Given the description of an element on the screen output the (x, y) to click on. 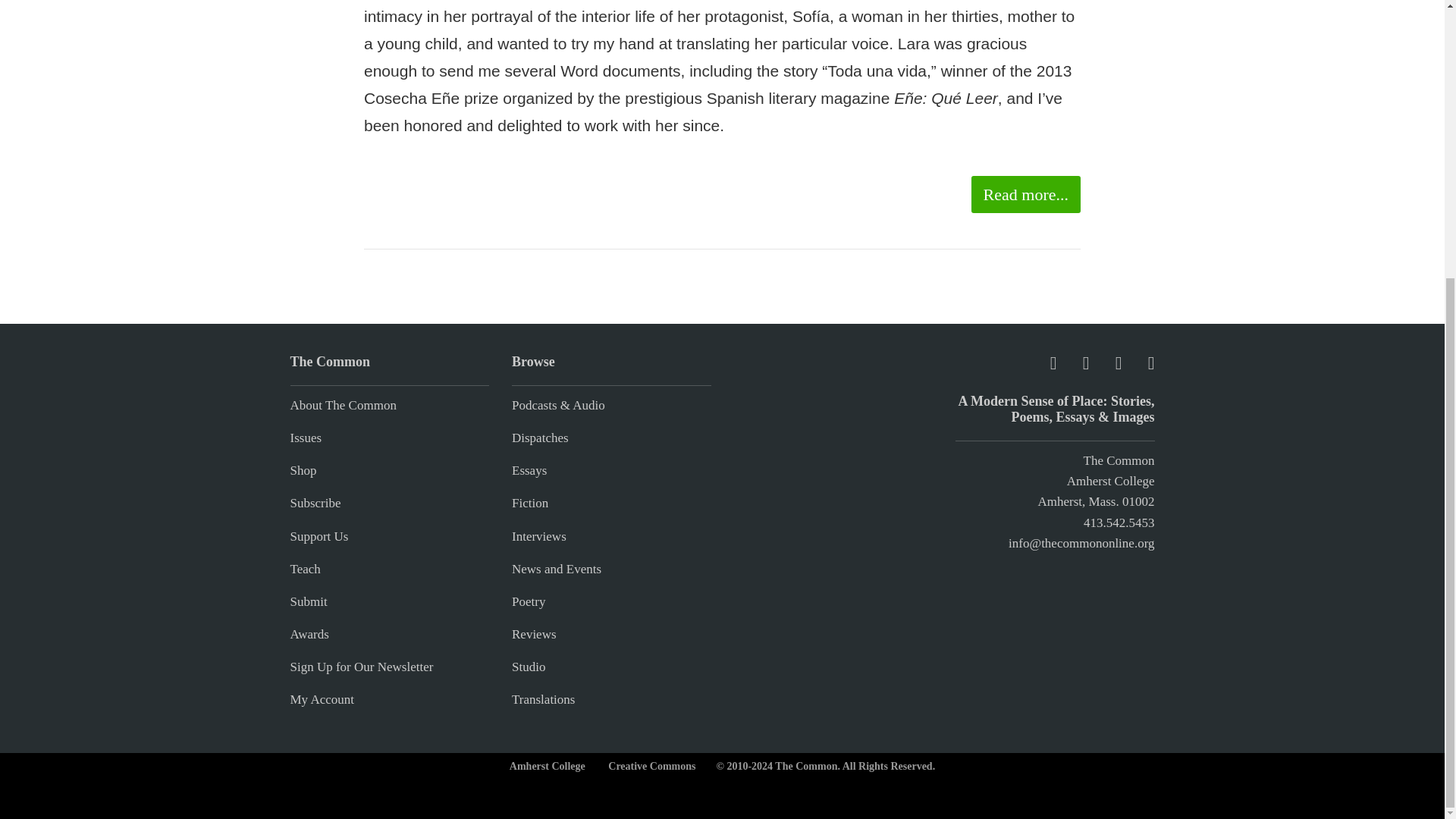
Interviews (539, 536)
Shop (302, 470)
Read more... (1025, 194)
Fiction (530, 503)
Awards (309, 634)
About The Common (342, 405)
The Common (1118, 460)
Dispatches (540, 437)
Support Us (318, 536)
Essays (529, 470)
My Account (321, 699)
Sign Up for Our Newsletter (360, 667)
News and Events (556, 568)
Submit (307, 601)
Translations (543, 699)
